Given the description of an element on the screen output the (x, y) to click on. 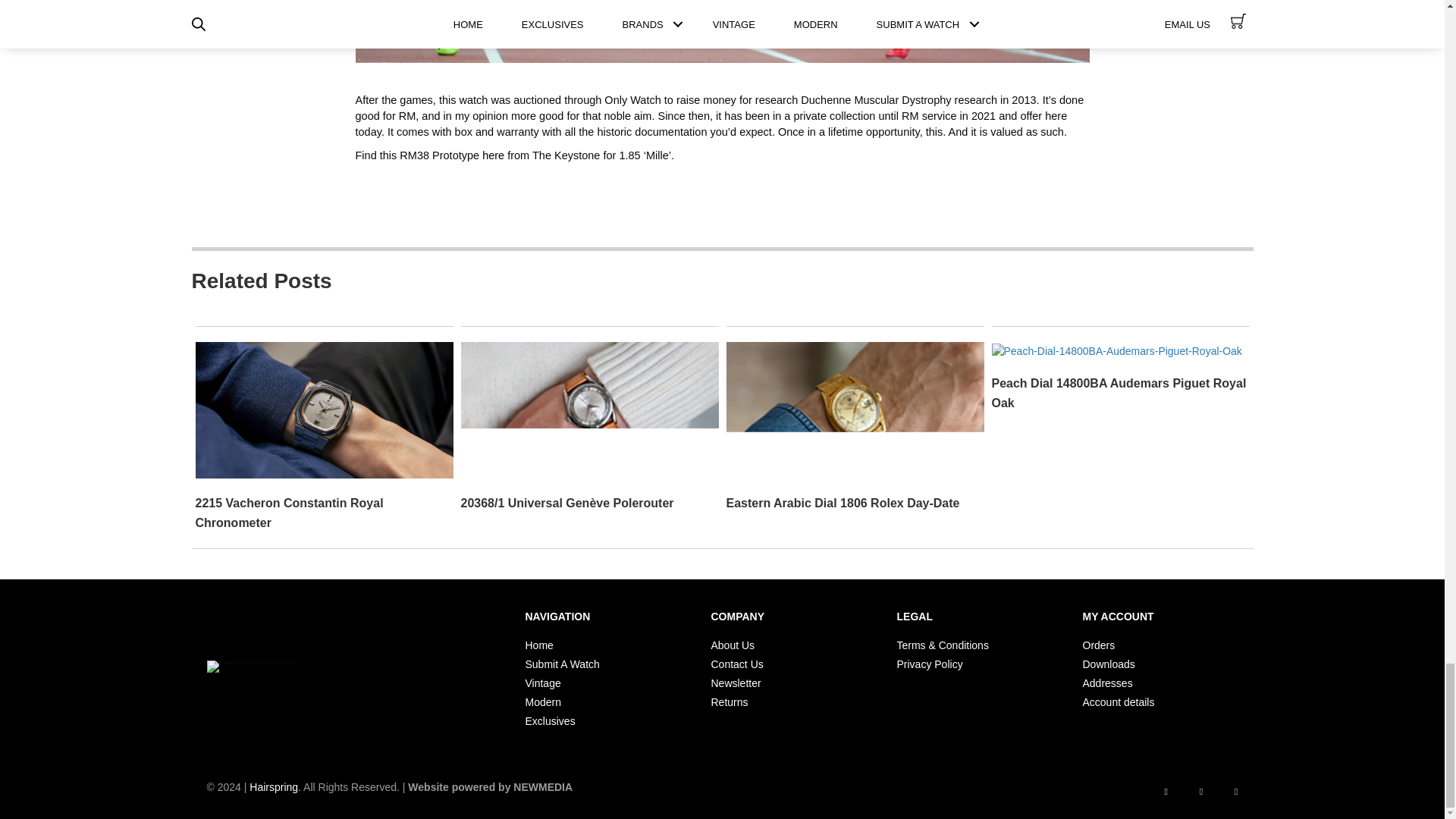
Eastern Arabic Dial 1806 Rolex Day-Date (842, 502)
Peach Dial 14800BA Audemars Piguet Royal Oak (1118, 392)
Hairspring-Footer (253, 666)
Eastern Arabic Dial 1806 Rolex Day-Date (855, 409)
2215 Vacheron Constantin Royal Chronometer (289, 512)
Peach Dial 14800BA Audemars Piguet Royal Oak (1116, 349)
2215 Vacheron Constantin Royal Chronometer (323, 409)
